Given the description of an element on the screen output the (x, y) to click on. 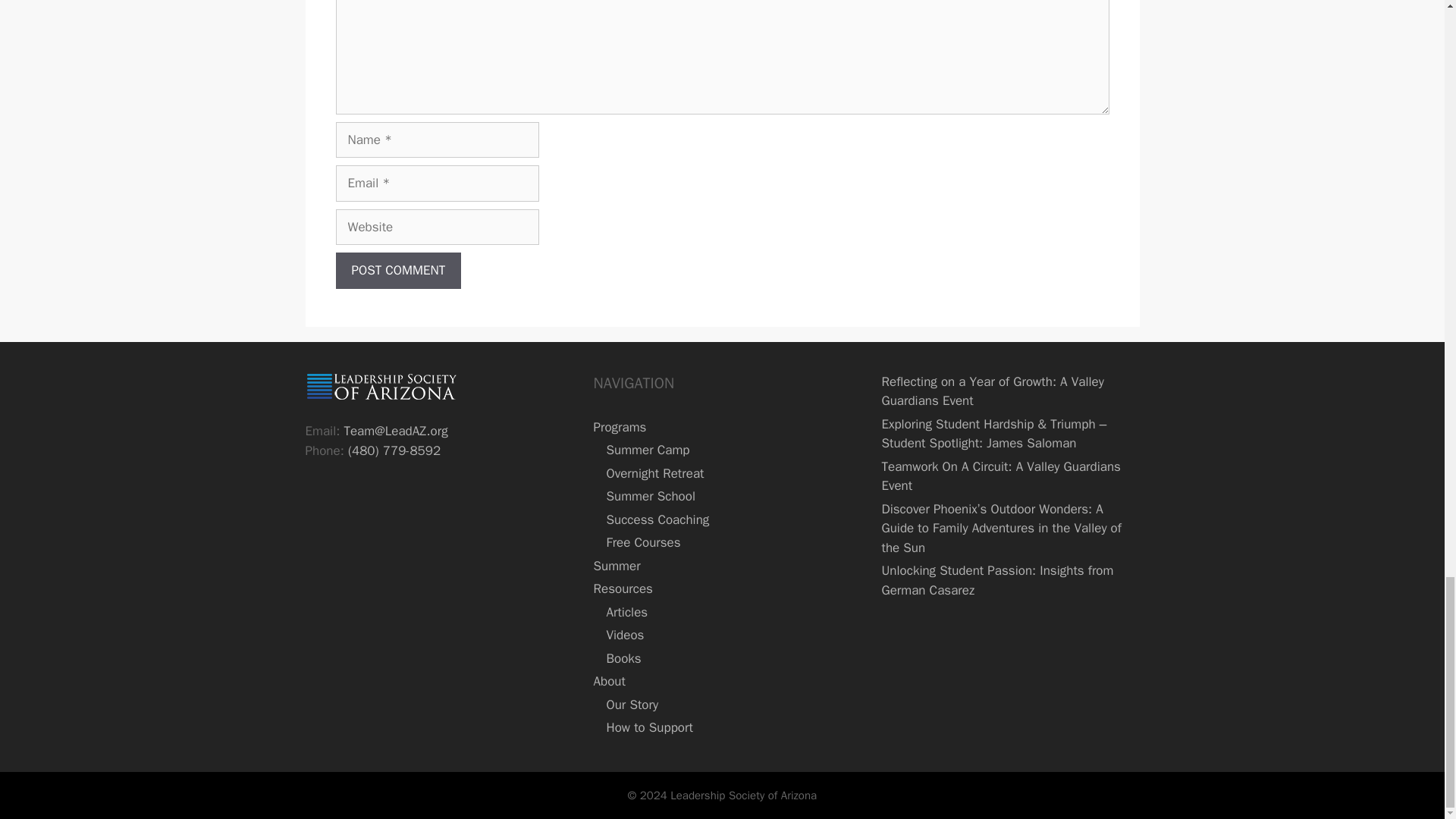
Post Comment (397, 270)
Resources (622, 588)
About (608, 681)
Summer School (649, 496)
Summer (616, 565)
Videos (624, 634)
Overnight Retreat (654, 473)
Post Comment (397, 270)
Summer Camp (646, 449)
Free Courses (642, 542)
